Given the description of an element on the screen output the (x, y) to click on. 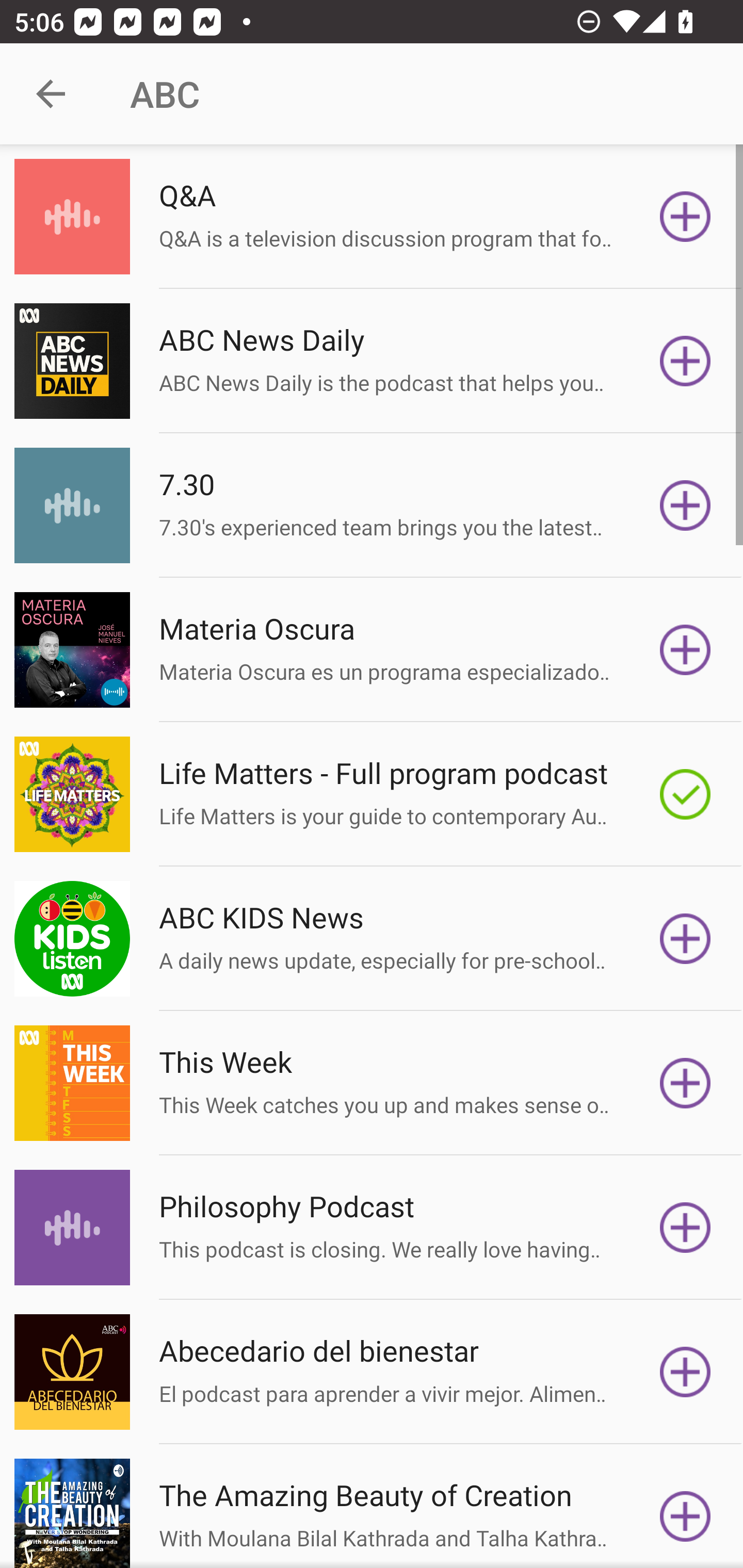
Navigate up (50, 93)
Subscribe (685, 216)
Subscribe (685, 360)
Subscribe (685, 505)
Subscribe (685, 649)
Subscribed (685, 793)
Subscribe (685, 939)
Subscribe (685, 1083)
Subscribe (685, 1227)
Subscribe (685, 1371)
Subscribe (685, 1513)
